Given the description of an element on the screen output the (x, y) to click on. 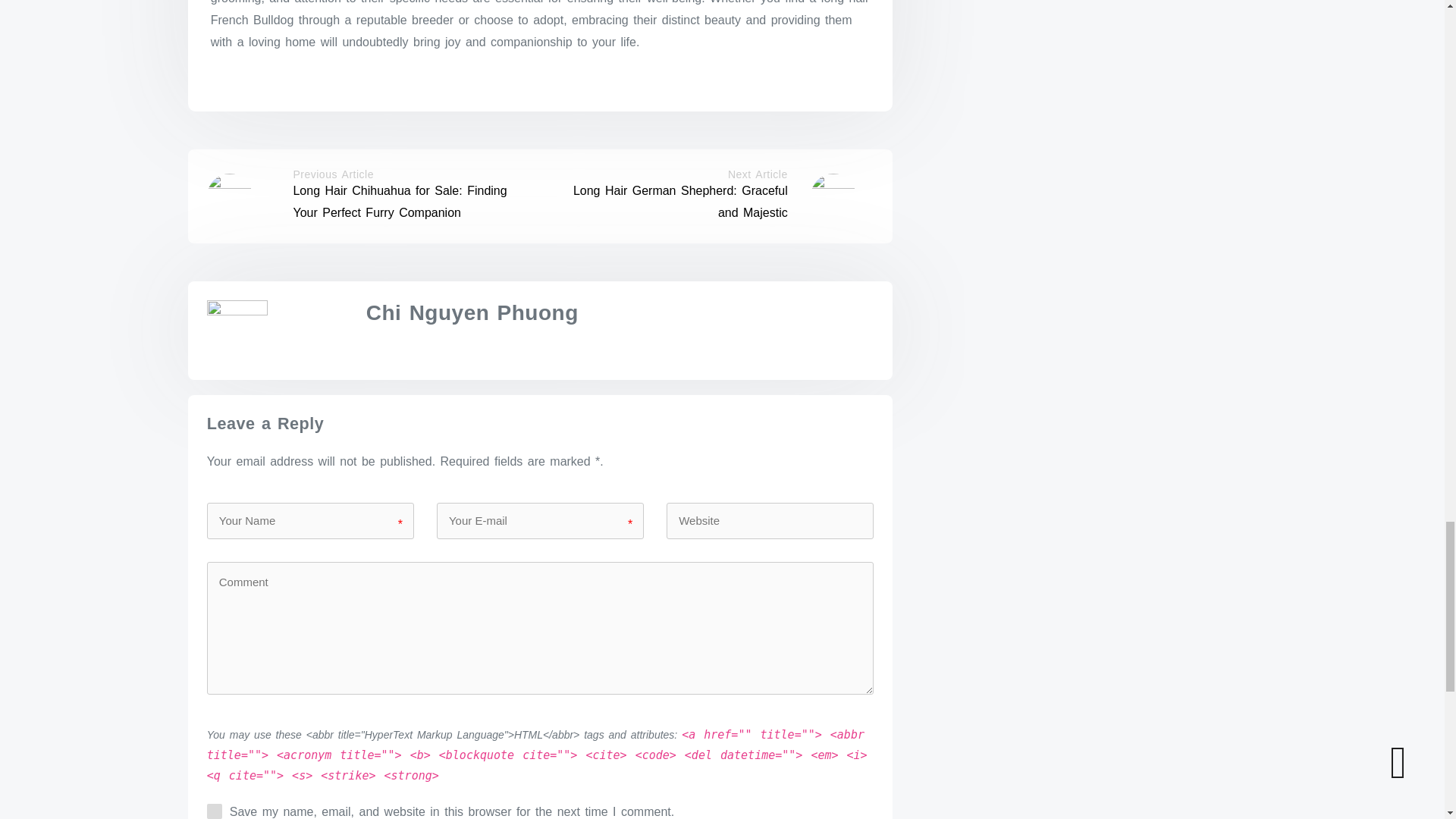
yes (214, 811)
Long Hair German Shepherd: Graceful and Majestic (680, 201)
